Given the description of an element on the screen output the (x, y) to click on. 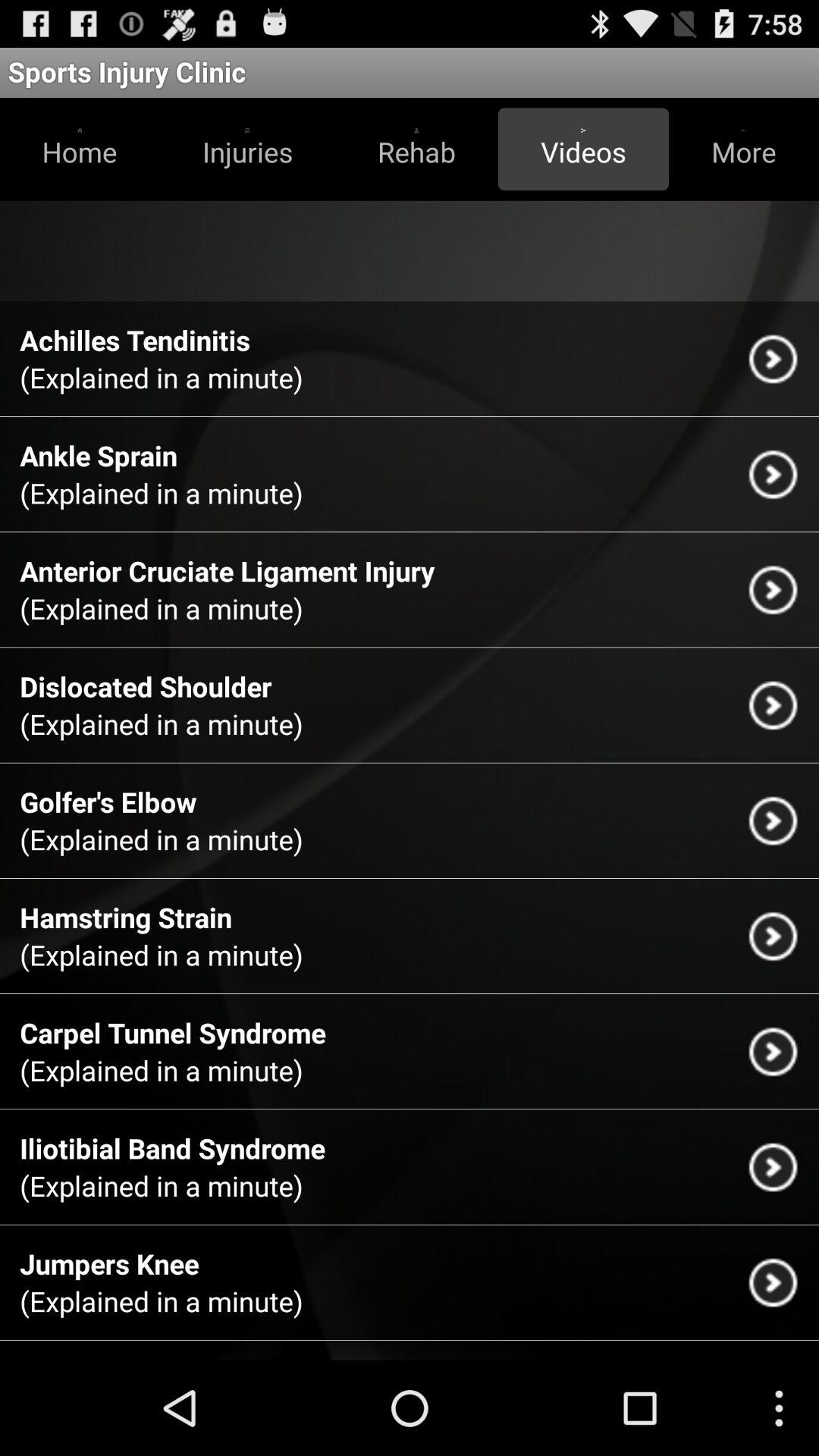
launch the item to the left of the injuries icon (79, 149)
